Given the description of an element on the screen output the (x, y) to click on. 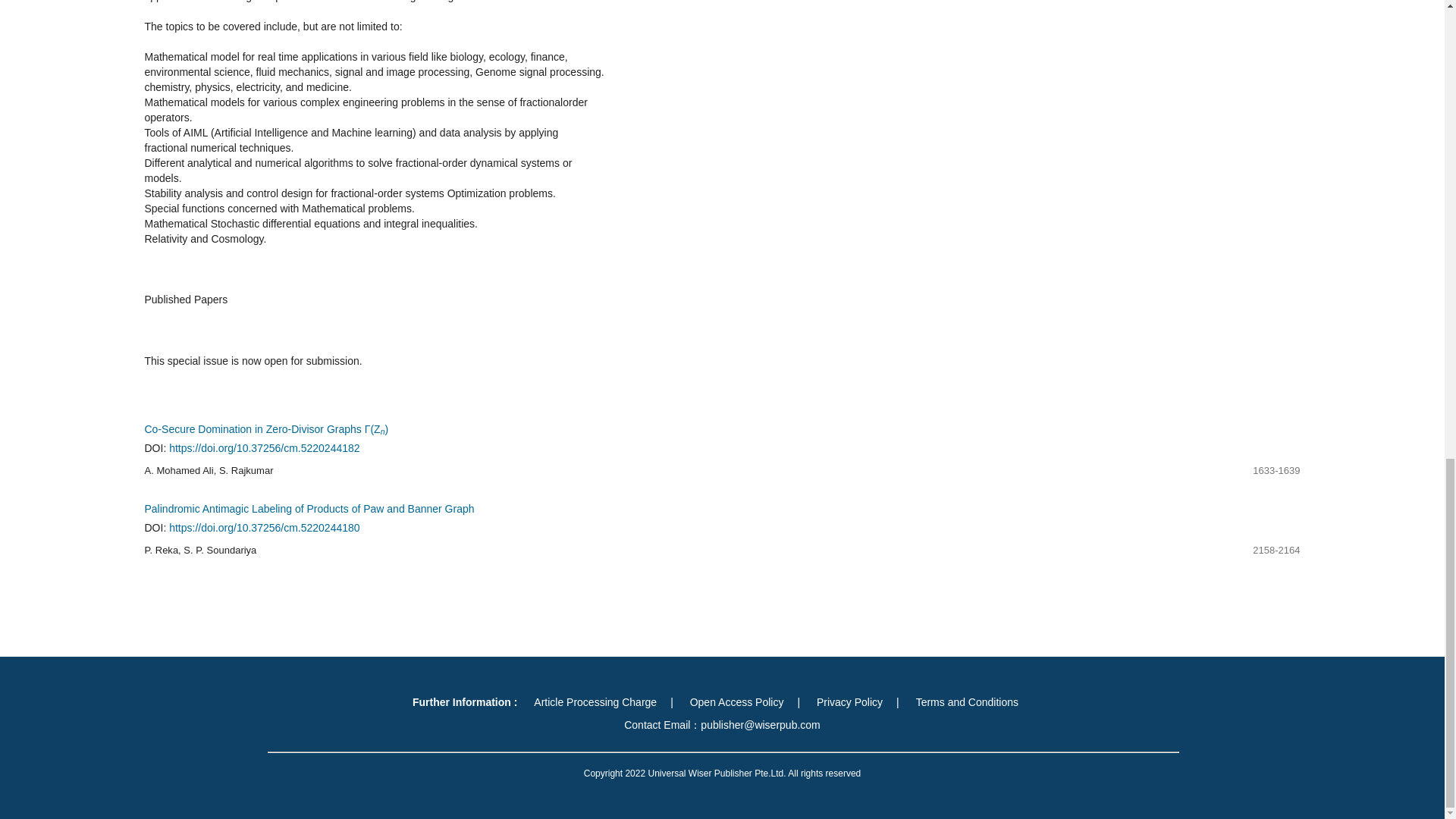
Privacy Policy (849, 702)
Open Access Policy (737, 702)
Article Processing Charge (594, 702)
Terms and Conditions (967, 702)
